Given the description of an element on the screen output the (x, y) to click on. 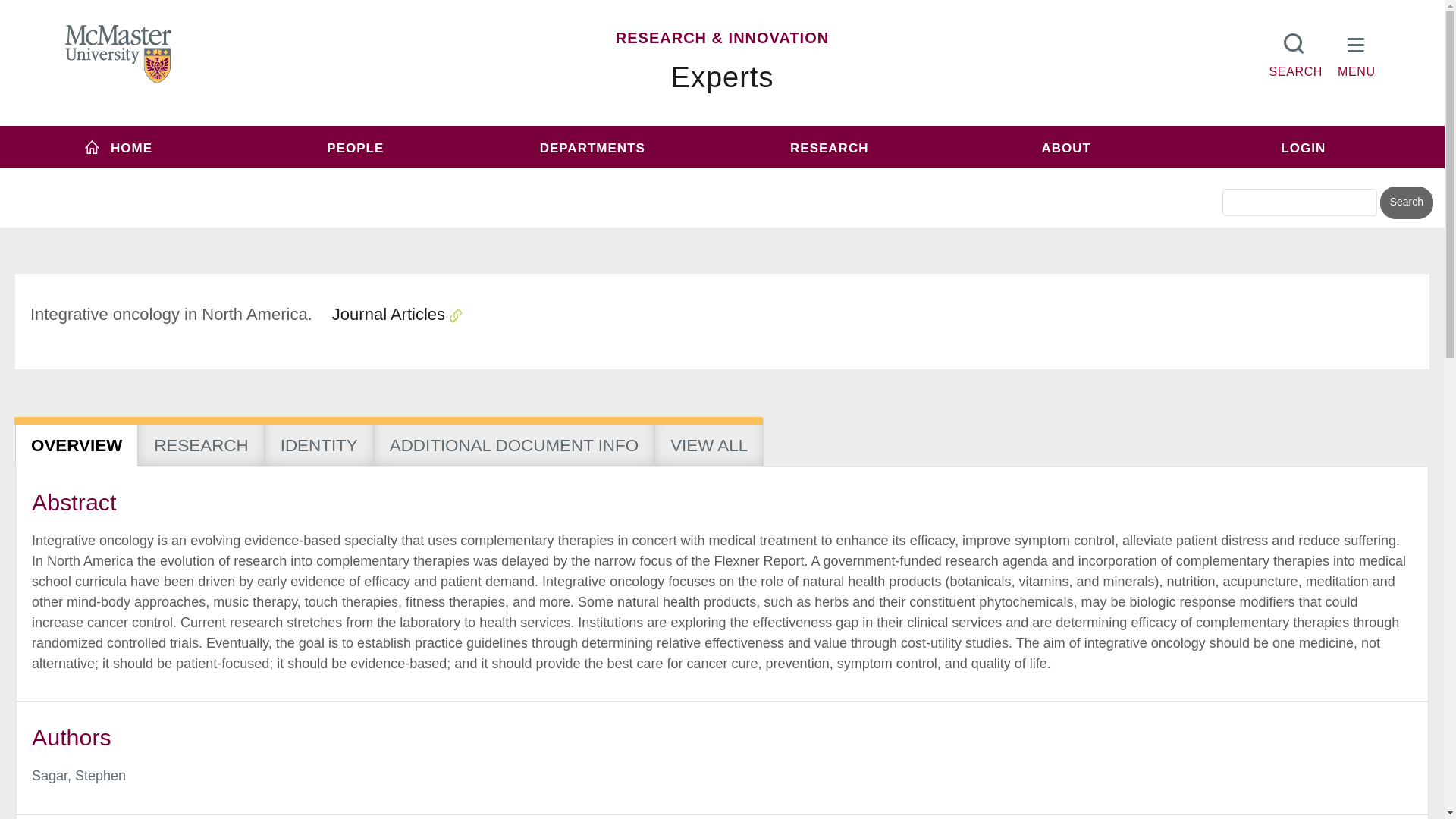
People menu item (355, 147)
MCMASTER LOGO (118, 54)
inurl:mcmaster.ca (829, 175)
Home menu item (118, 147)
author name (78, 775)
Departments menu item (592, 147)
Research menu item (829, 147)
SEARCH (1295, 51)
McMaster Univeristy Logo (118, 54)
MENU (1356, 51)
